Given the description of an element on the screen output the (x, y) to click on. 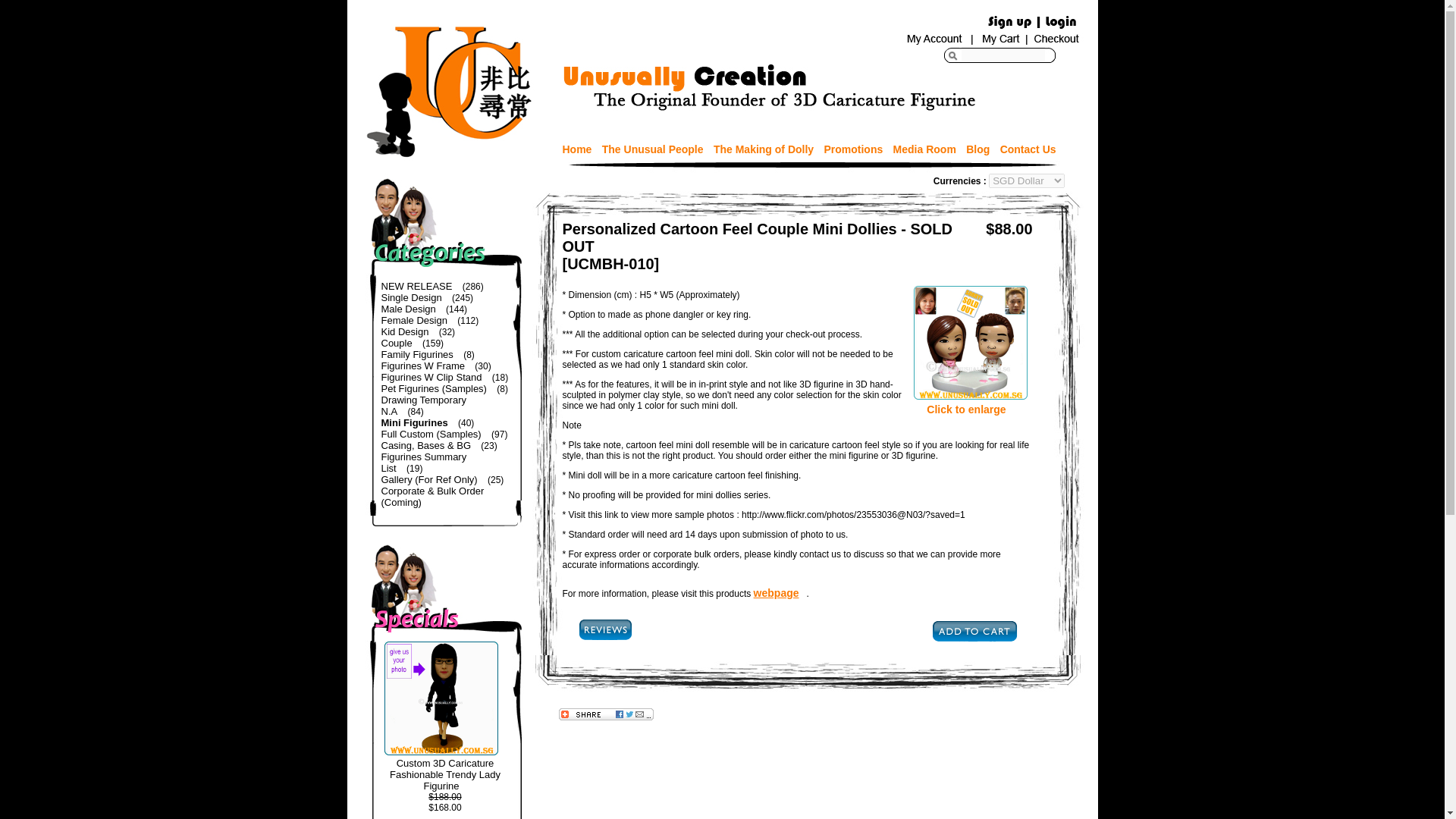
Male Design (411, 308)
Contact Us (1032, 149)
Figurines W Frame (425, 365)
Kid Design (407, 331)
Blog (981, 149)
NEW RELEASE (420, 285)
webpage (780, 592)
Promotions (856, 149)
Single Design (414, 297)
 Add to Cart  (973, 630)
Figurines W Clip Stand (434, 377)
Drawing Temporary N.A (422, 404)
Media Room (928, 149)
